Given the description of an element on the screen output the (x, y) to click on. 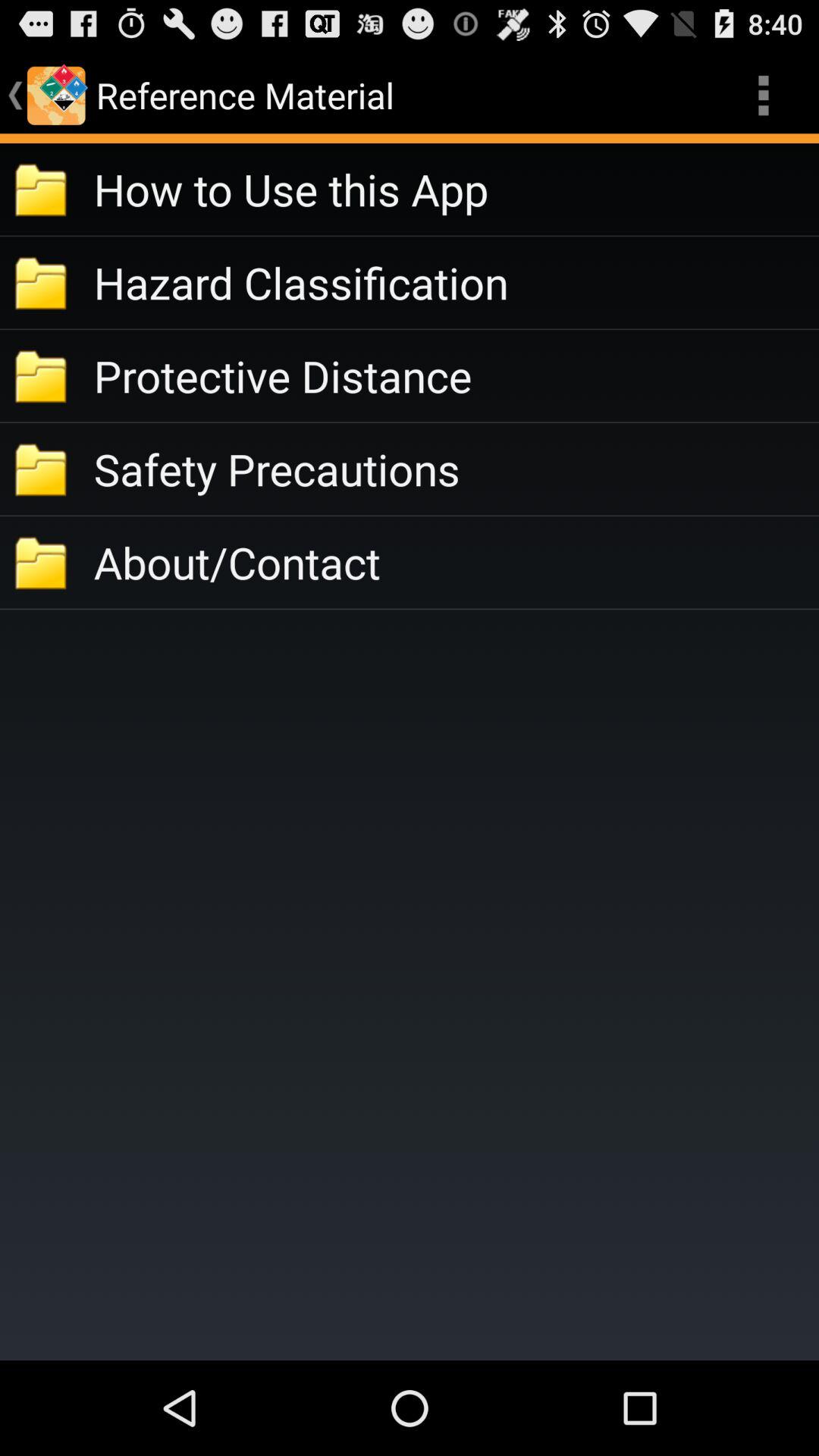
flip until how to use icon (456, 189)
